Given the description of an element on the screen output the (x, y) to click on. 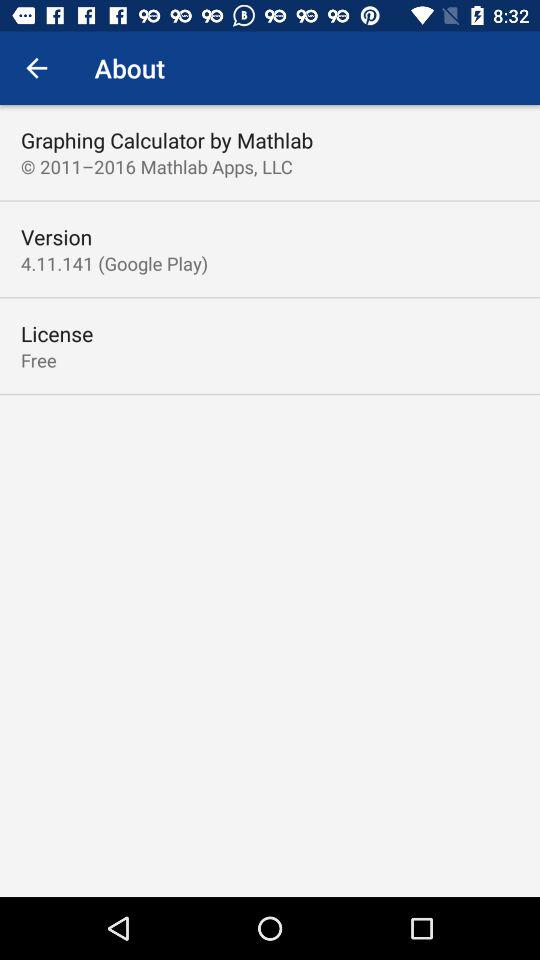
swipe until the 4 11 141 item (114, 263)
